Given the description of an element on the screen output the (x, y) to click on. 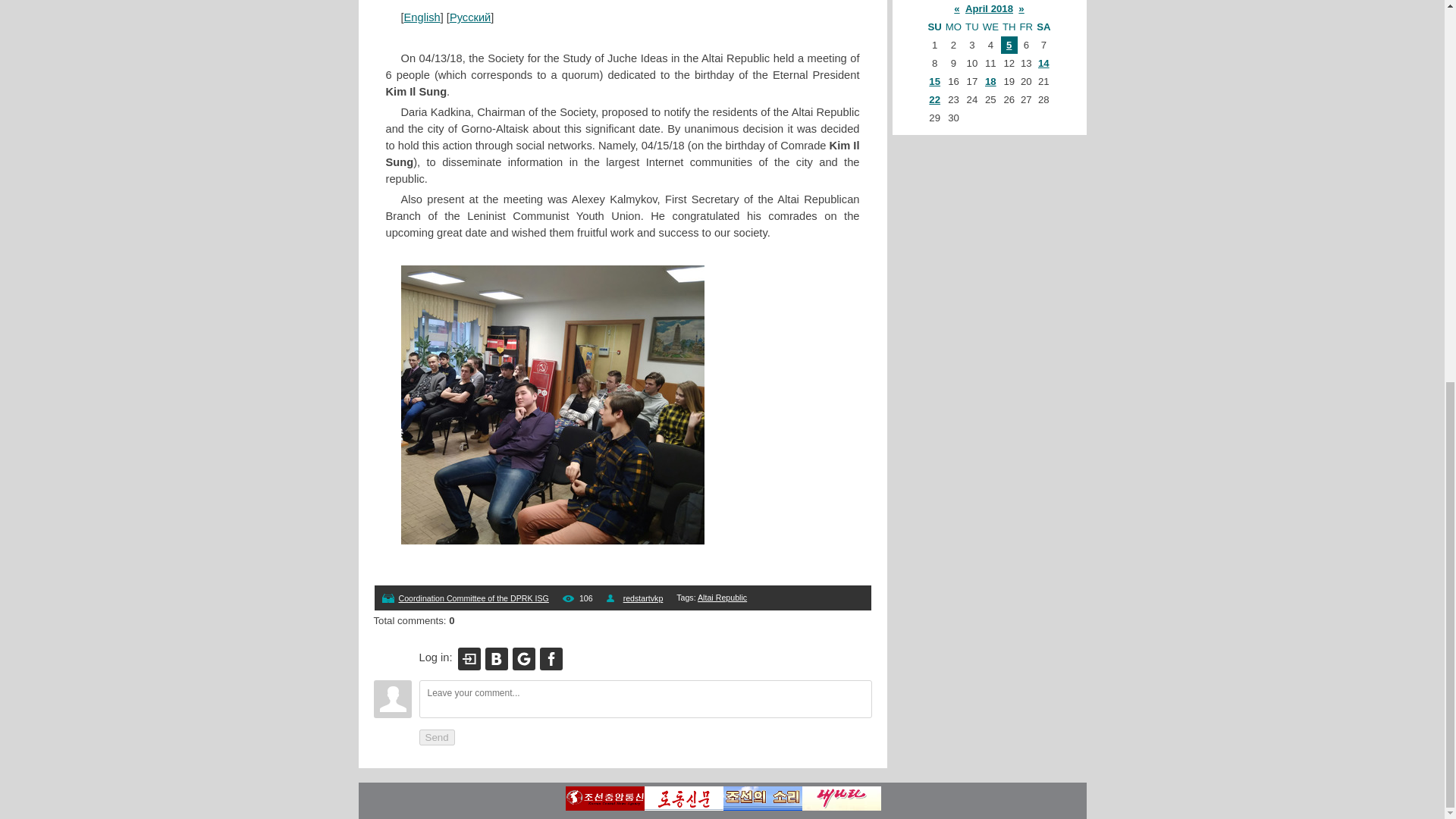
Log in with VK (497, 658)
Log in with Google (524, 658)
redstartvkp (643, 597)
Log in with Facebook (550, 658)
Altai Republic (721, 596)
1 Messages (990, 81)
English (422, 17)
Send (436, 737)
Log In (469, 658)
Coordination Committee of the DPRK ISG (473, 597)
